Given the description of an element on the screen output the (x, y) to click on. 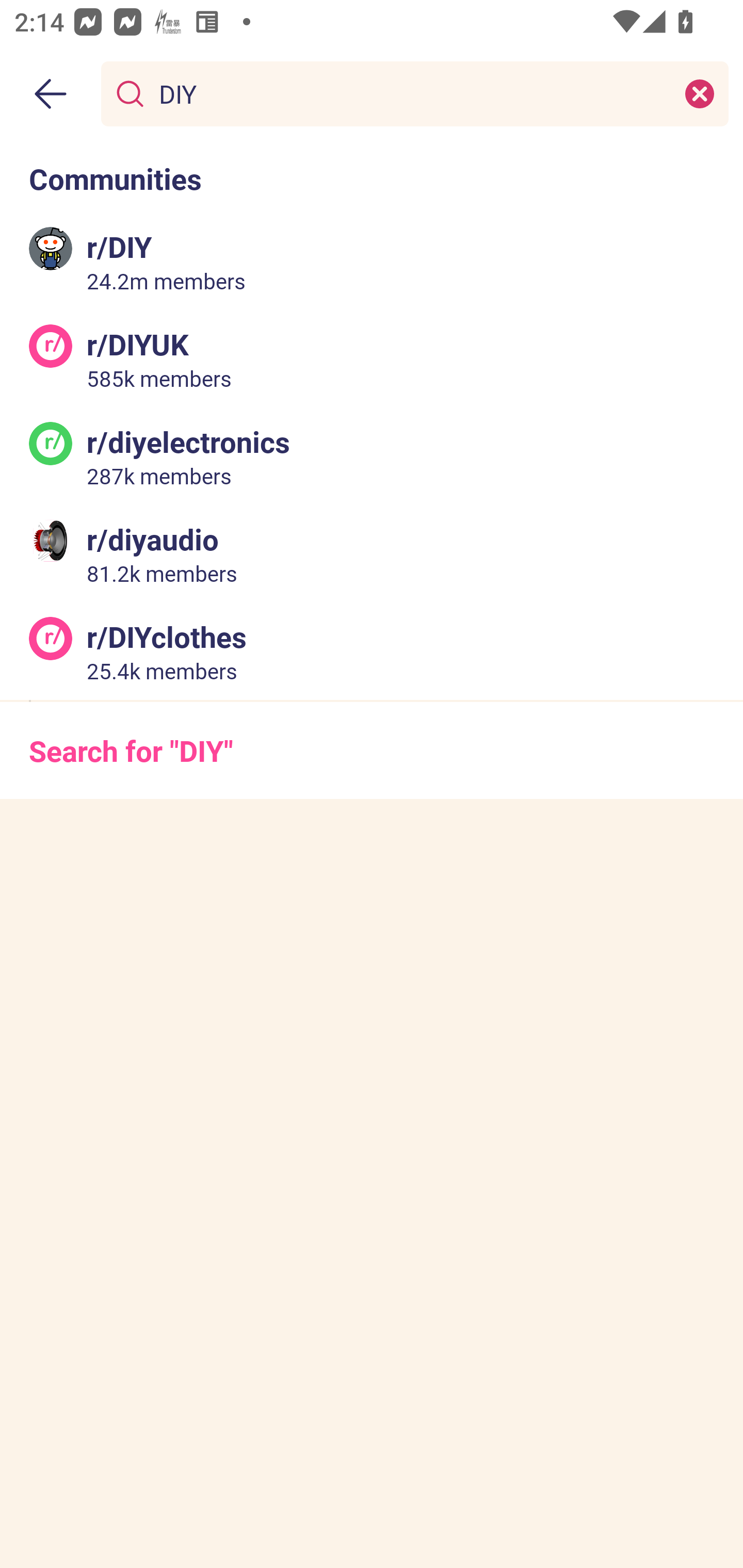
Back (50, 93)
DIY (410, 93)
Clear search (699, 93)
r/DIY 24.2m members 24.2 million members (371, 261)
r/DIYUK 585k members 585 thousand members (371, 358)
r/diyelectronics 287k members 287 thousand members (371, 455)
r/diyaudio 81.2k members 81.2 thousand members (371, 553)
r/DIYclothes 25.4k members 25.4 thousand members (371, 650)
Search for "DIY" (371, 750)
